Given the description of an element on the screen output the (x, y) to click on. 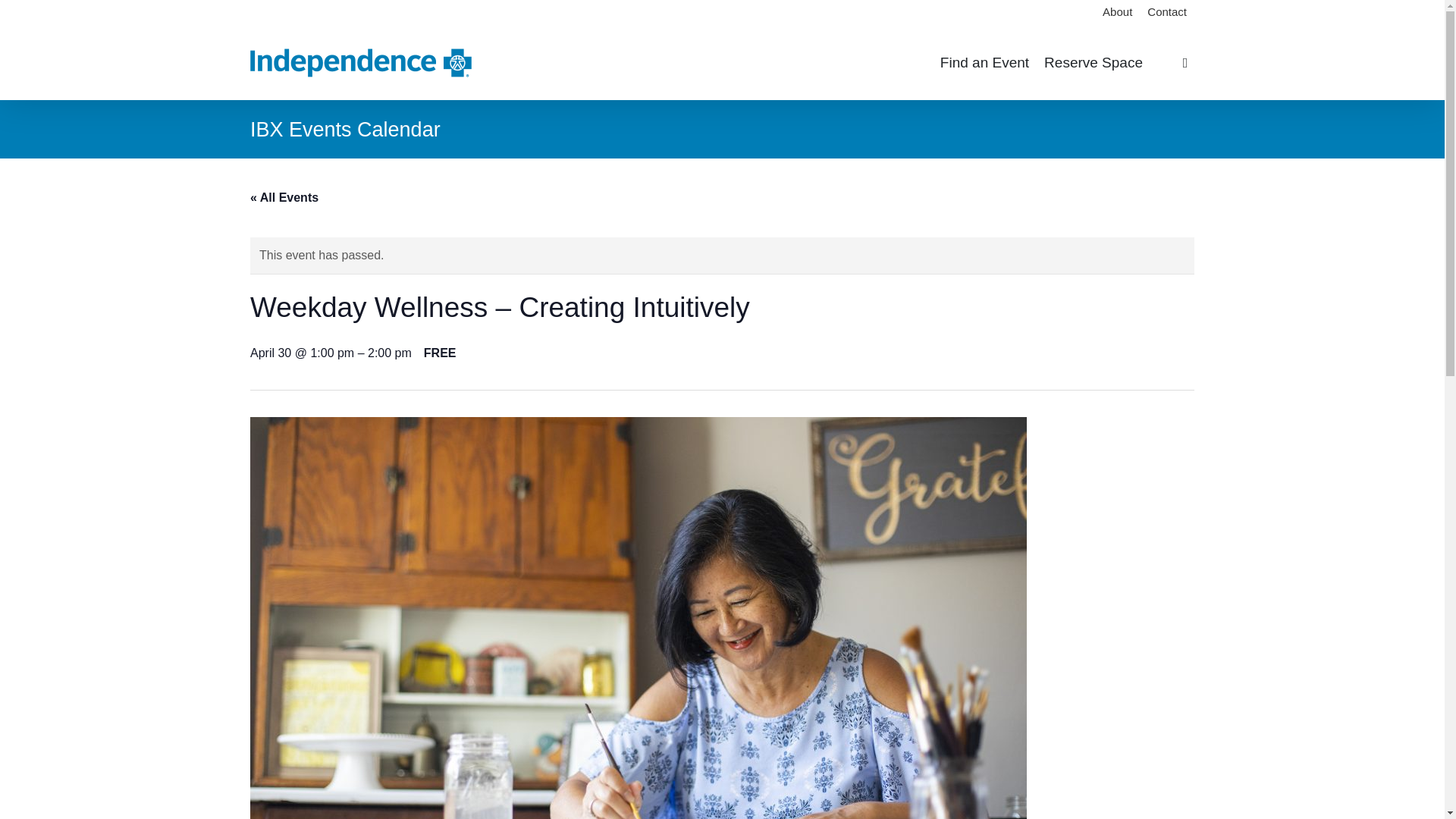
search (1184, 62)
Find an Event (984, 62)
About (1117, 11)
Reserve Space (1092, 62)
Contact (1166, 11)
